Given the description of an element on the screen output the (x, y) to click on. 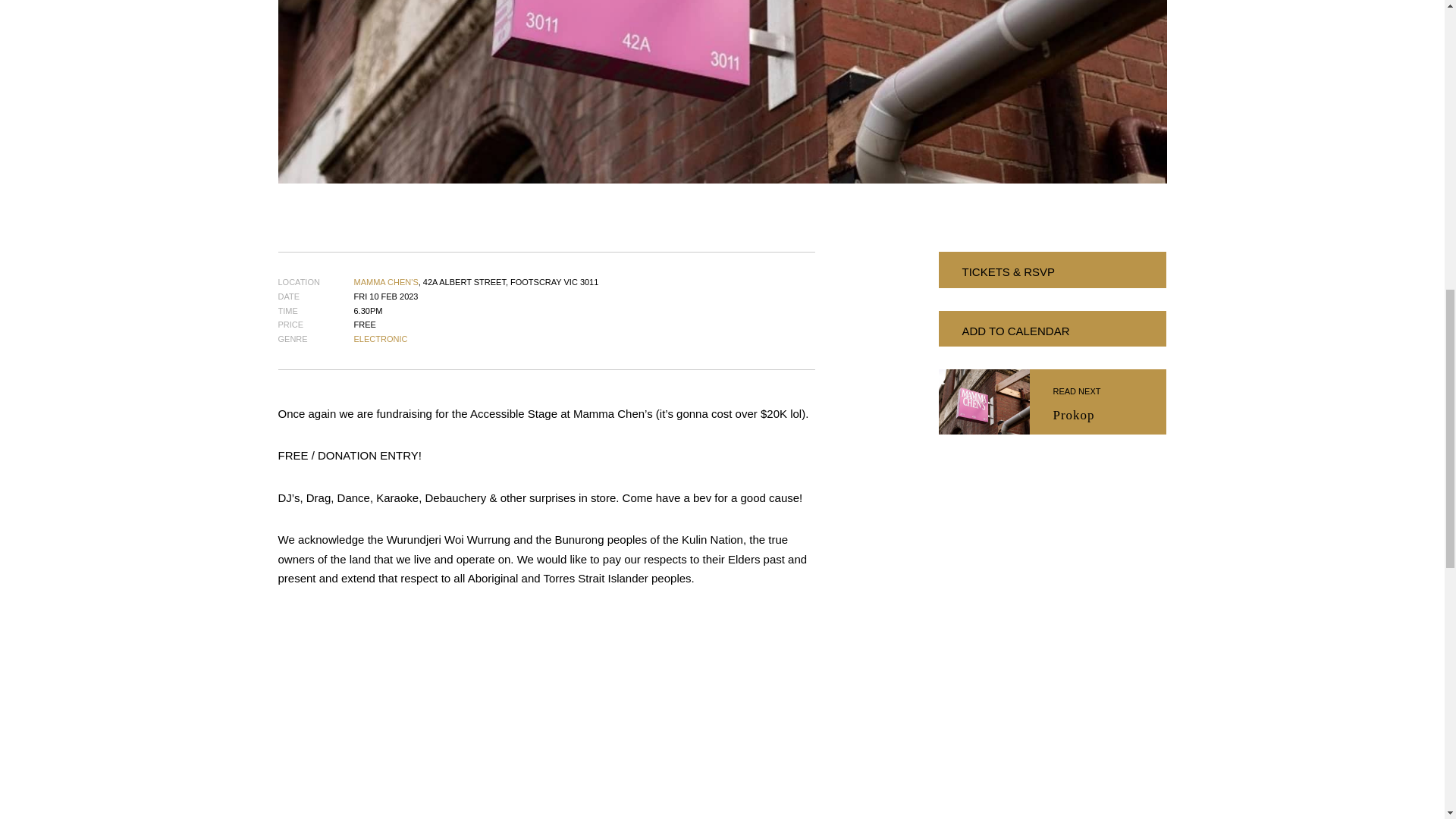
3rd party ad content (1052, 660)
MAMMA CHEN'S (385, 281)
ELECTRONIC (1097, 401)
